Given the description of an element on the screen output the (x, y) to click on. 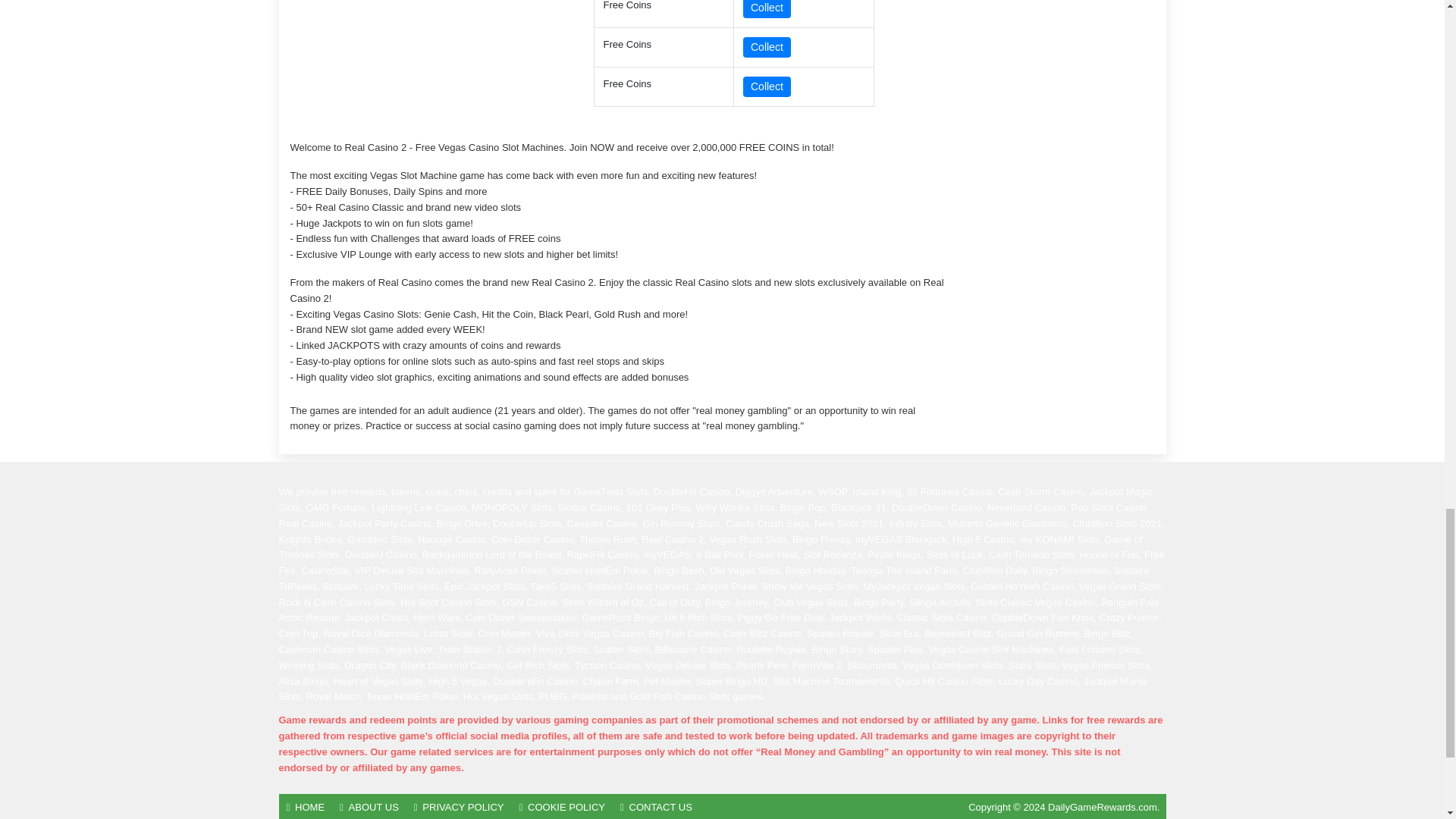
Collect (766, 9)
